Given the description of an element on the screen output the (x, y) to click on. 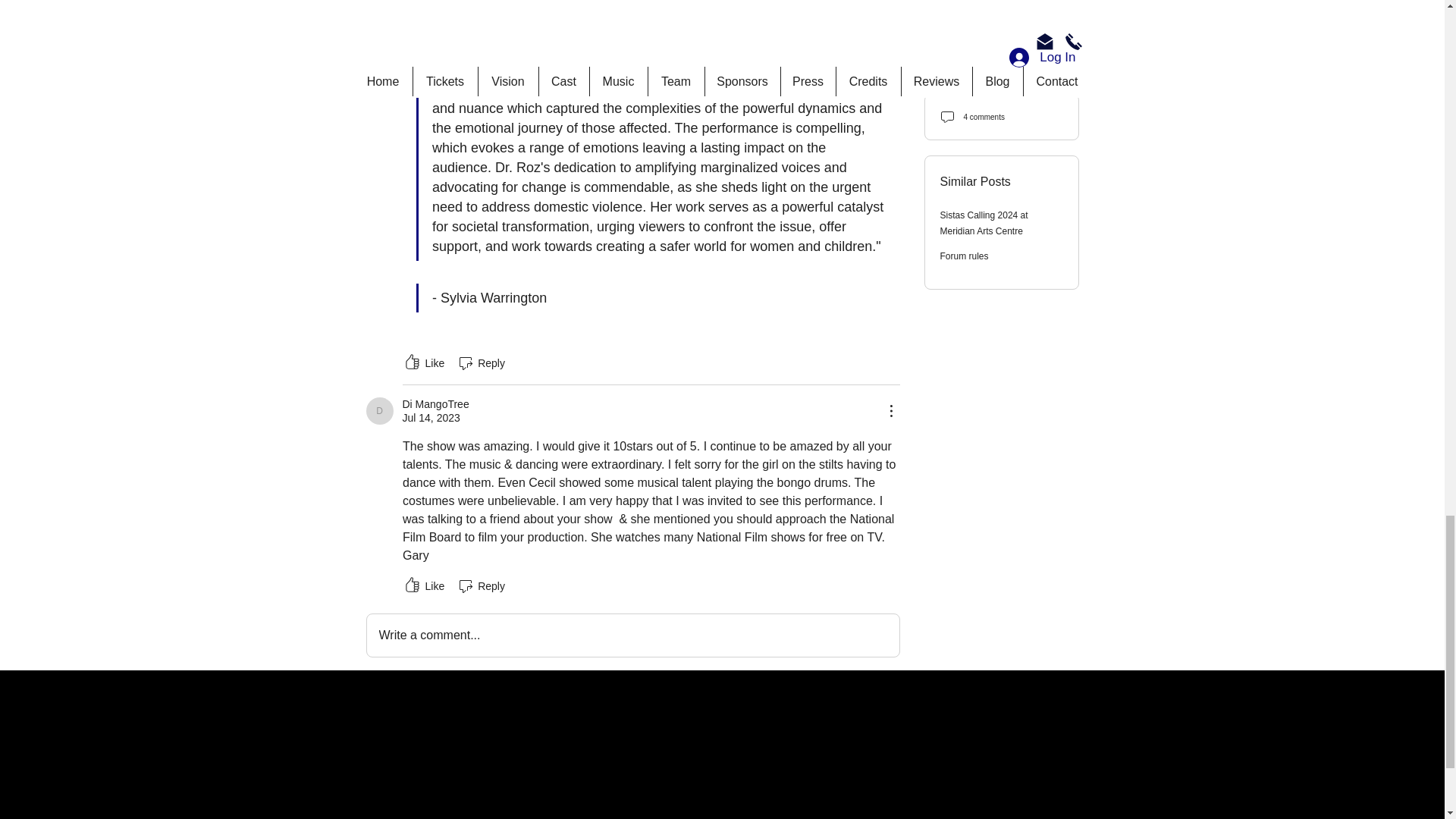
Di MangoTree (379, 411)
